Given the description of an element on the screen output the (x, y) to click on. 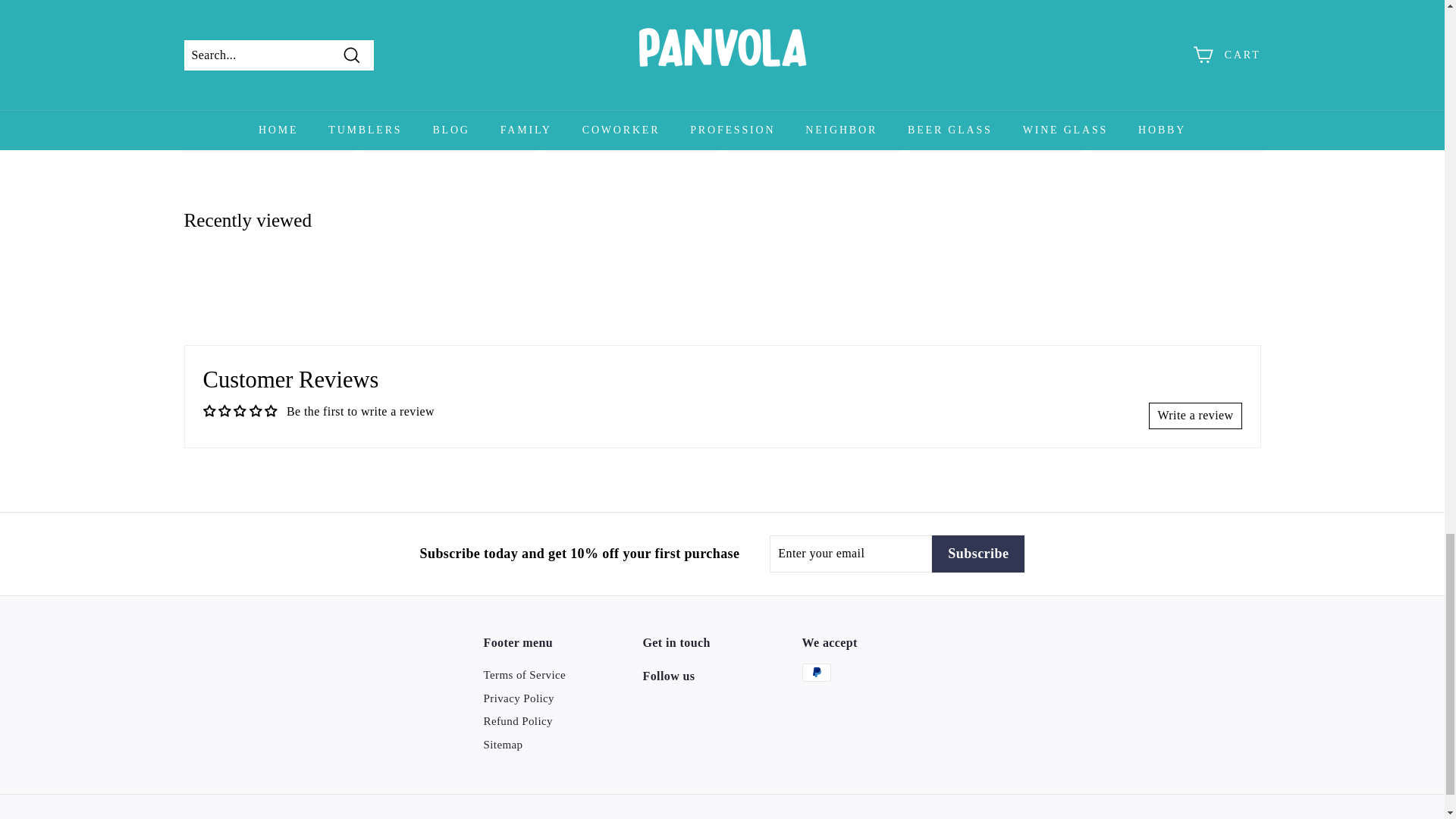
PayPal (816, 672)
